Given the description of an element on the screen output the (x, y) to click on. 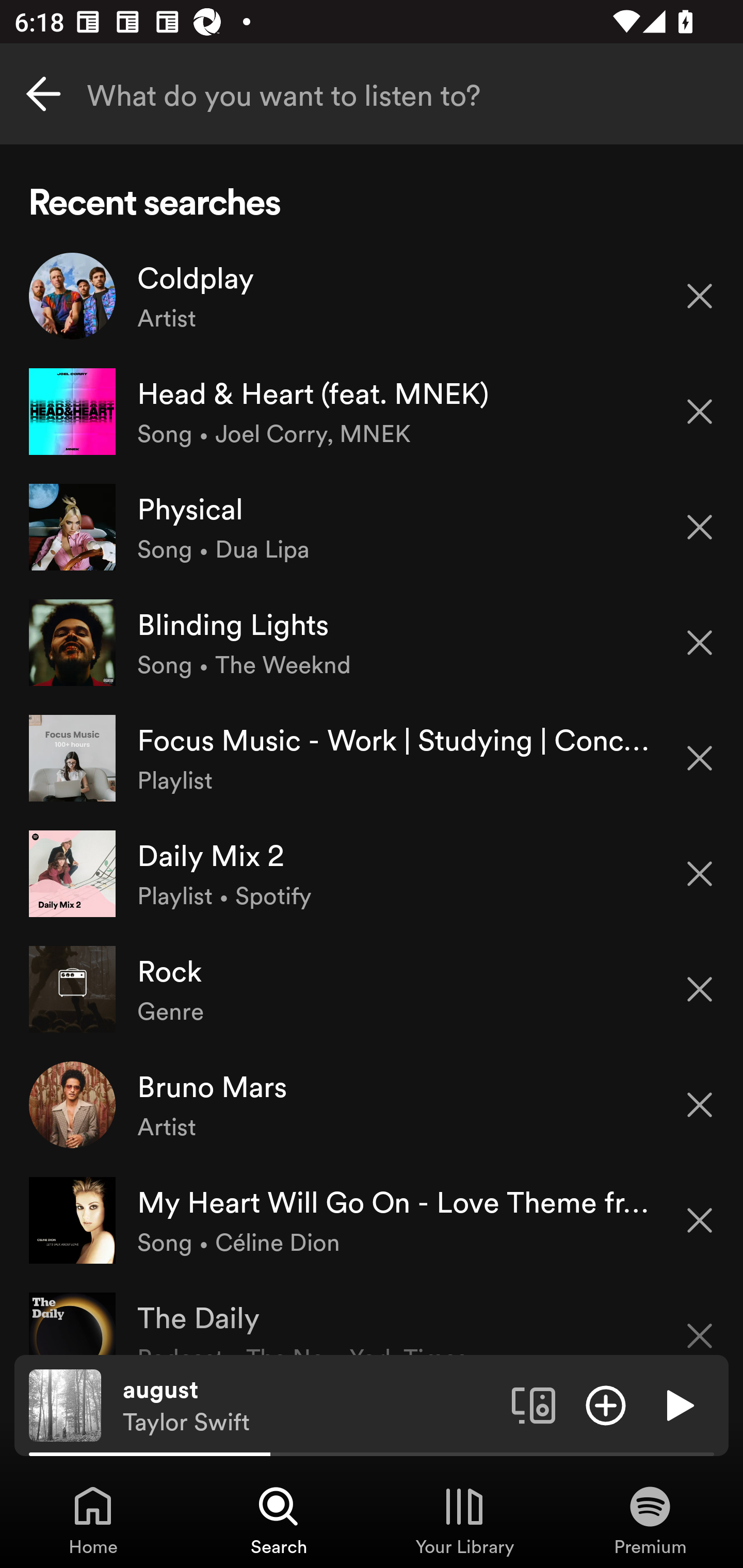
What do you want to listen to? (371, 93)
Cancel (43, 93)
Coldplay Artist Remove (371, 296)
Remove (699, 295)
Remove (699, 411)
Physical Song • Dua Lipa Remove (371, 526)
Remove (699, 527)
Blinding Lights Song • The Weeknd Remove (371, 642)
Remove (699, 642)
Remove (699, 758)
Daily Mix 2 Playlist • Spotify Remove (371, 873)
Remove (699, 874)
Rock Genre Remove (371, 989)
Remove (699, 989)
Bruno Mars Artist Remove (371, 1104)
Remove (699, 1104)
Remove (699, 1220)
The Daily Podcast • The New York Times Remove (371, 1315)
Remove (699, 1323)
august Taylor Swift (309, 1405)
The cover art of the currently playing track (64, 1404)
Connect to a device. Opens the devices menu (533, 1404)
Add item (605, 1404)
Play (677, 1404)
Home, Tab 1 of 4 Home Home (92, 1519)
Search, Tab 2 of 4 Search Search (278, 1519)
Your Library, Tab 3 of 4 Your Library Your Library (464, 1519)
Premium, Tab 4 of 4 Premium Premium (650, 1519)
